Given the description of an element on the screen output the (x, y) to click on. 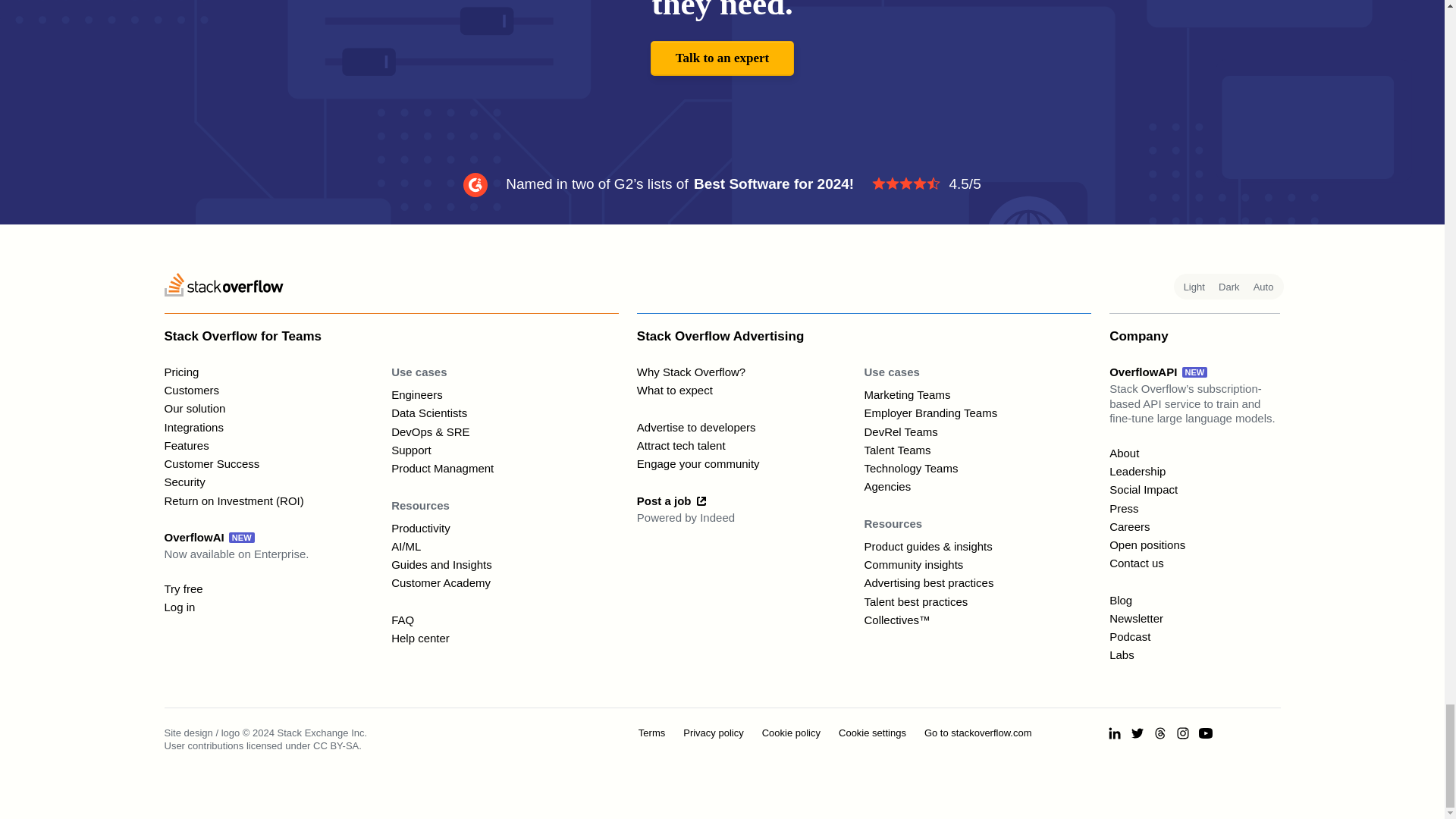
Return to home (222, 286)
YouTube (1205, 732)
LinkedIn (1114, 732)
Threads (1160, 732)
Instagram (1182, 732)
Open OneTrust cookie settings (871, 732)
